Given the description of an element on the screen output the (x, y) to click on. 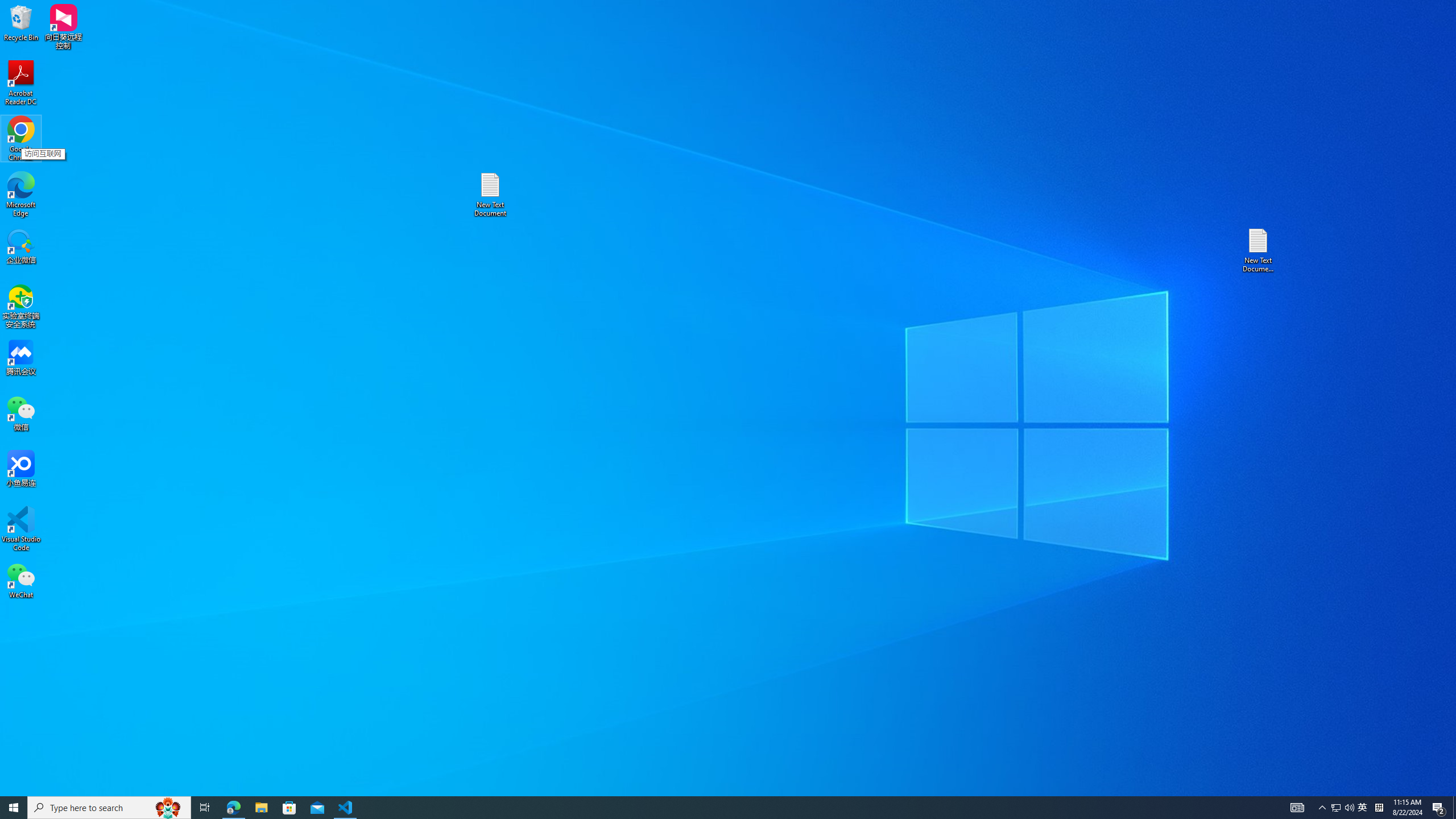
Visual Studio Code (21, 528)
Acrobat Reader DC (21, 82)
Microsoft Edge - 1 running window (1335, 807)
User Promoted Notification Area (233, 807)
Show desktop (1342, 807)
Tray Input Indicator - Chinese (Simplified, China) (1454, 807)
File Explorer (1378, 807)
Notification Chevron (261, 807)
New Text Document (1322, 807)
Action Center, 2 new notifications (489, 194)
Google Chrome (1439, 807)
